Given the description of an element on the screen output the (x, y) to click on. 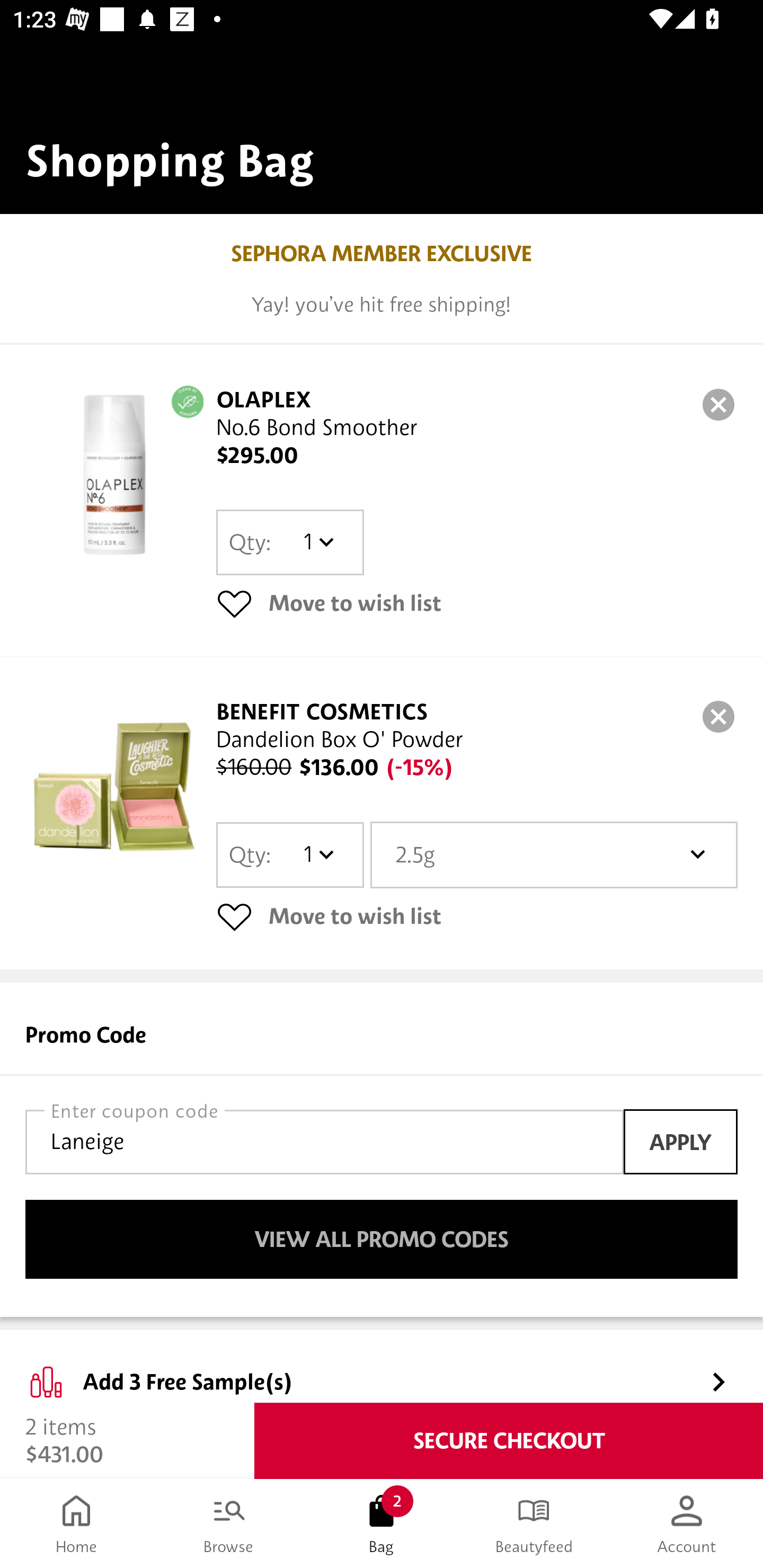
1 (317, 542)
Move to wish list (476, 602)
2.5g (553, 854)
1 (317, 854)
Move to wish list (476, 916)
Promo Code Laneige APPLY VIEW ALL PROMO CODES (381, 1150)
APPLY (680, 1141)
Laneige (324, 1142)
VIEW ALL PROMO CODES (381, 1239)
Add 3 Free Sample(s) (381, 1366)
SECURE CHECKOUT (508, 1440)
Home (76, 1523)
Browse (228, 1523)
Beautyfeed (533, 1523)
Account (686, 1523)
